Given the description of an element on the screen output the (x, y) to click on. 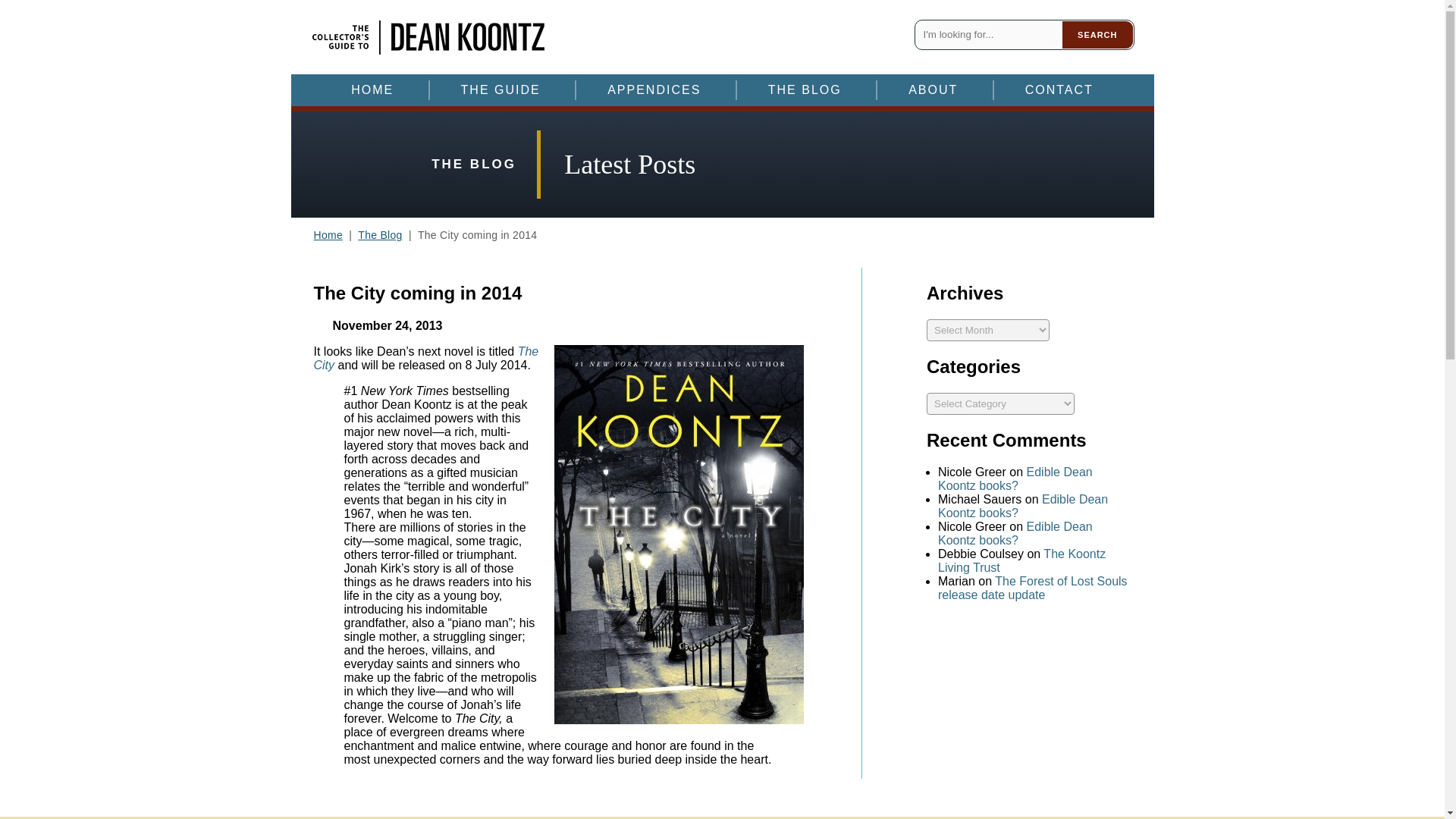
APPENDICES (653, 89)
SEARCH (1097, 34)
THE BLOG (804, 89)
THE GUIDE (501, 89)
HOME (371, 89)
ABOUT (933, 89)
